Given the description of an element on the screen output the (x, y) to click on. 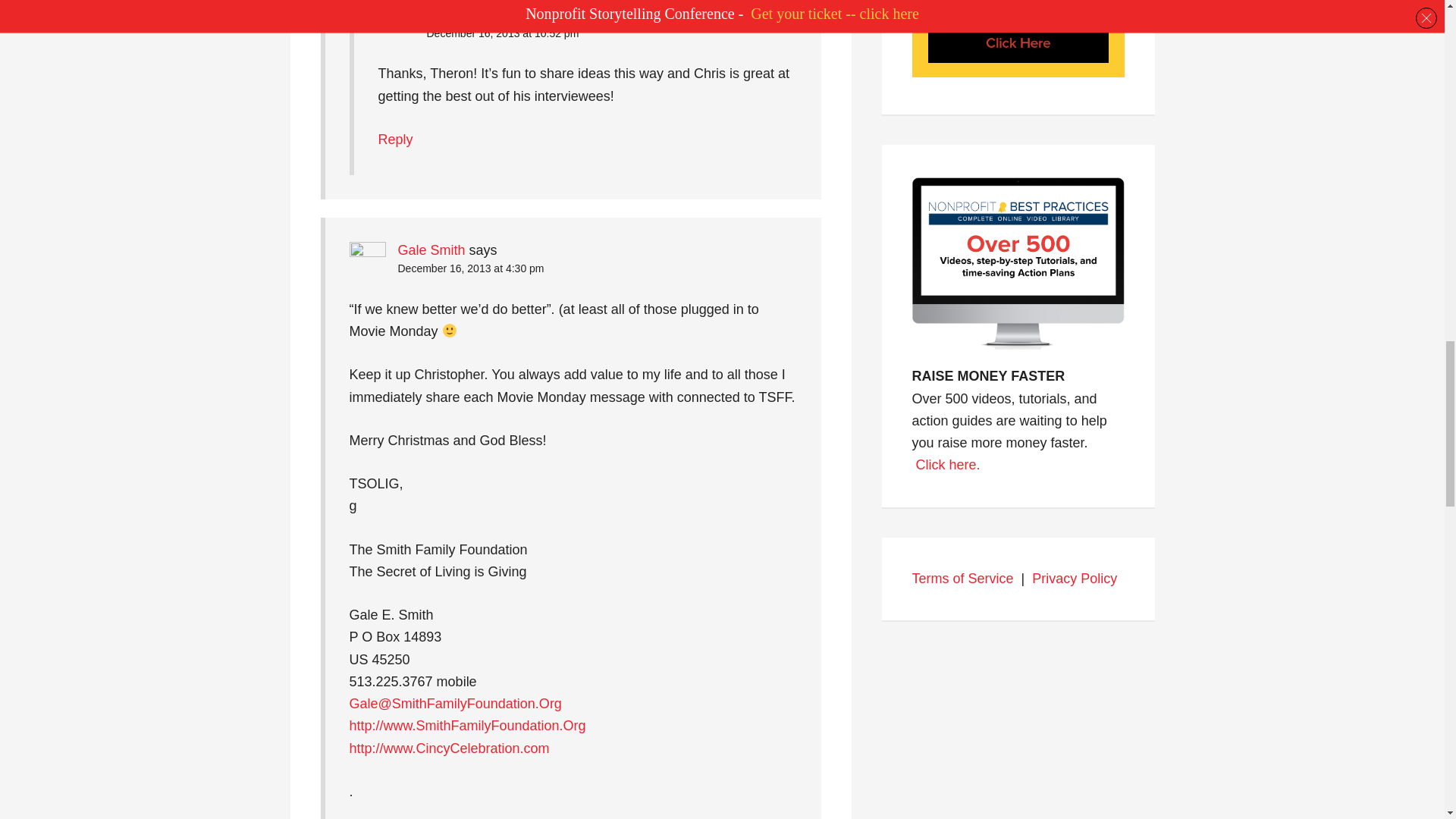
December 16, 2013 at 10:52 pm (502, 33)
December 16, 2013 at 4:30 pm (470, 268)
500 Videos (947, 464)
Netflix for Nonprofits (1017, 353)
Brad Fenstermacher (488, 14)
Gale Smith (430, 249)
Privacy Policy (1074, 577)
Terms of Service (962, 577)
Reply (394, 139)
